Given the description of an element on the screen output the (x, y) to click on. 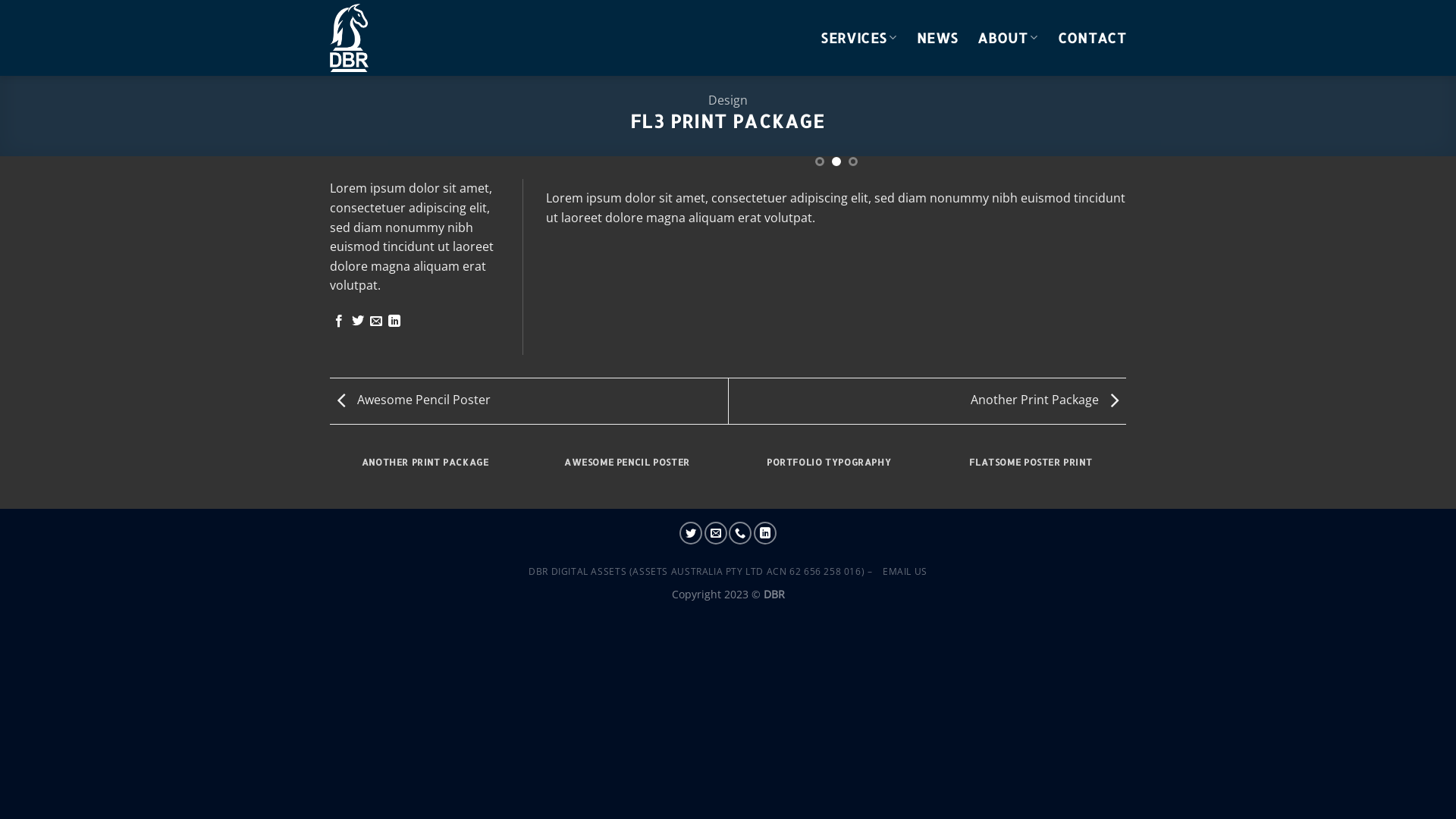
SERVICES Element type: text (858, 37)
EMAIL US Element type: text (904, 570)
Skip to content Element type: text (0, 0)
PORTFOLIO TYPOGRAPHY Element type: text (828, 470)
ABOUT Element type: text (1007, 37)
Design Element type: text (727, 99)
FLATSOME POSTER PRINT Element type: text (1030, 470)
Another Print Package Element type: text (1048, 399)
NEWS Element type: text (936, 37)
AWESOME PENCIL POSTER Element type: text (627, 470)
ANOTHER PRINT PACKAGE Element type: text (424, 470)
CONTACT Element type: text (1091, 37)
Awesome Pencil Poster Element type: text (409, 399)
